Given the description of an element on the screen output the (x, y) to click on. 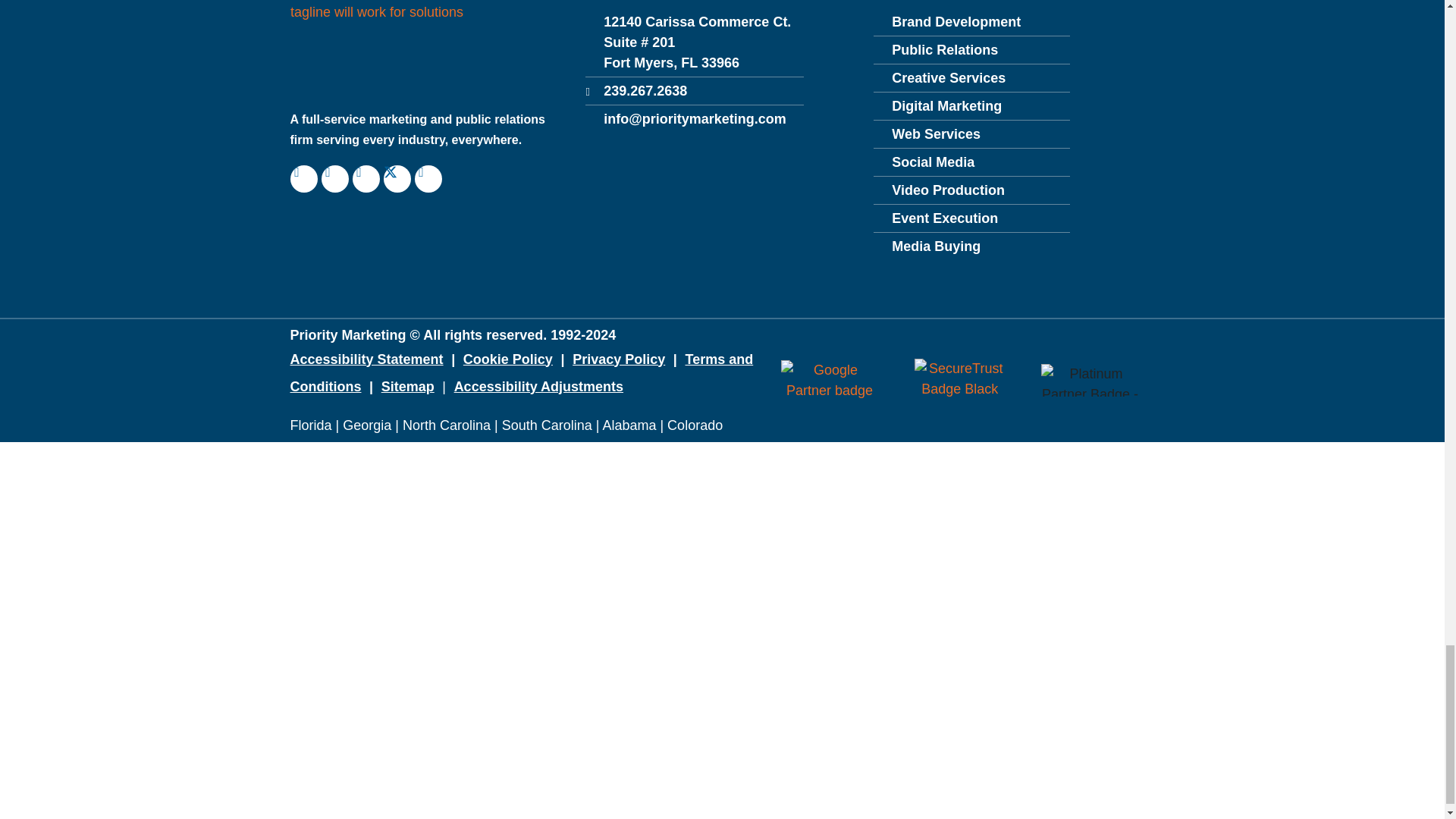
PartnerBadgeClickable-Google (829, 380)
